Given the description of an element on the screen output the (x, y) to click on. 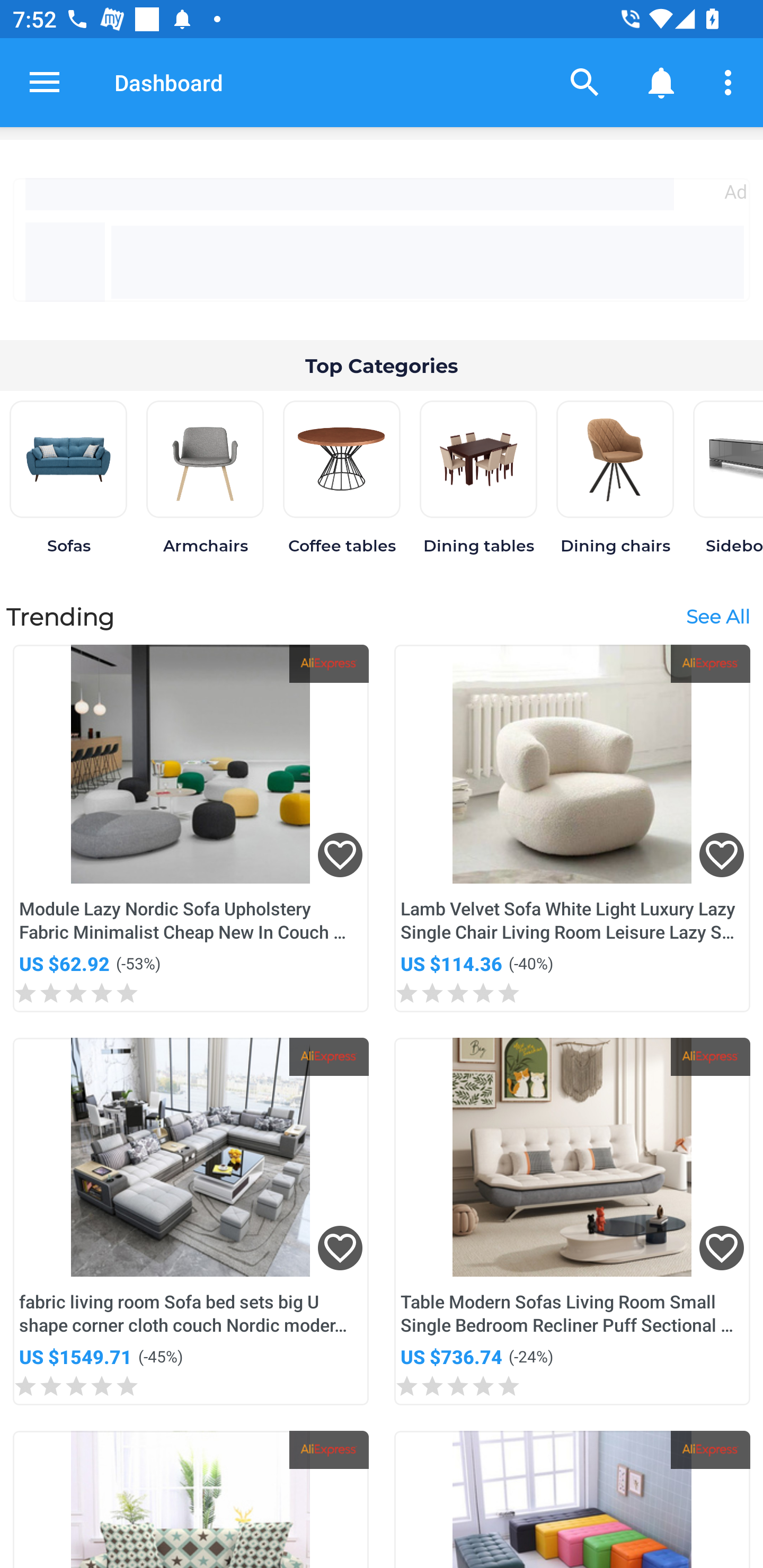
Open navigation drawer (44, 82)
Search (585, 81)
More options (731, 81)
See All (717, 615)
